Given the description of an element on the screen output the (x, y) to click on. 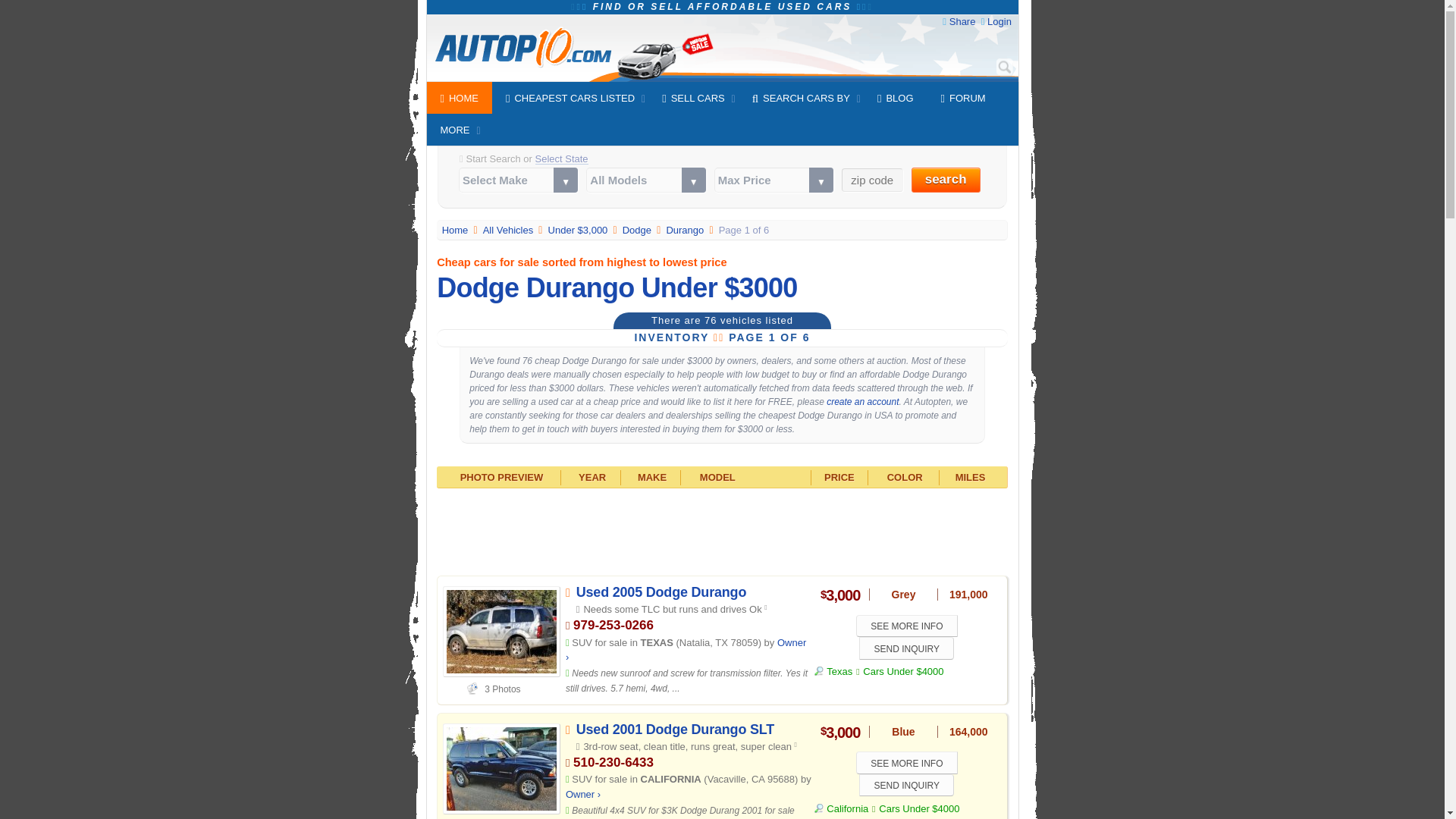
Used 2001 Dodge Durango SLT (675, 729)
Home (456, 229)
SEE MORE INFO (907, 626)
Browse the cheapest cars for sale list (509, 229)
All Vehicles (509, 229)
MORE (454, 129)
View all Dodge vehicles listed (638, 229)
Owner inventory (582, 794)
SEND INQUIRY (906, 784)
seller comments... (687, 680)
